Given the description of an element on the screen output the (x, y) to click on. 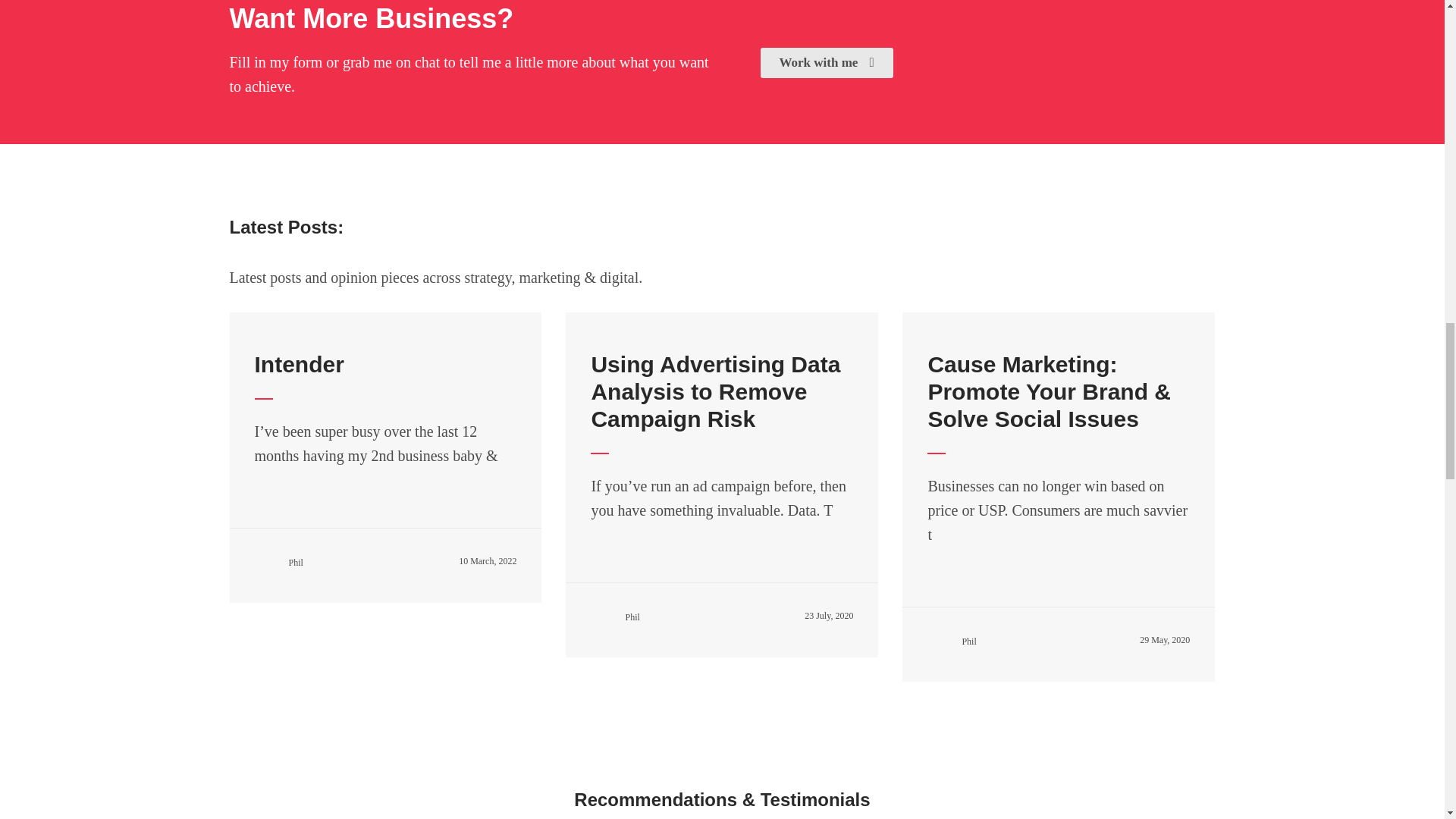
Intender (298, 364)
Using Advertising Data Analysis to Remove Campaign Risk (715, 391)
Work with me (826, 62)
